Given the description of an element on the screen output the (x, y) to click on. 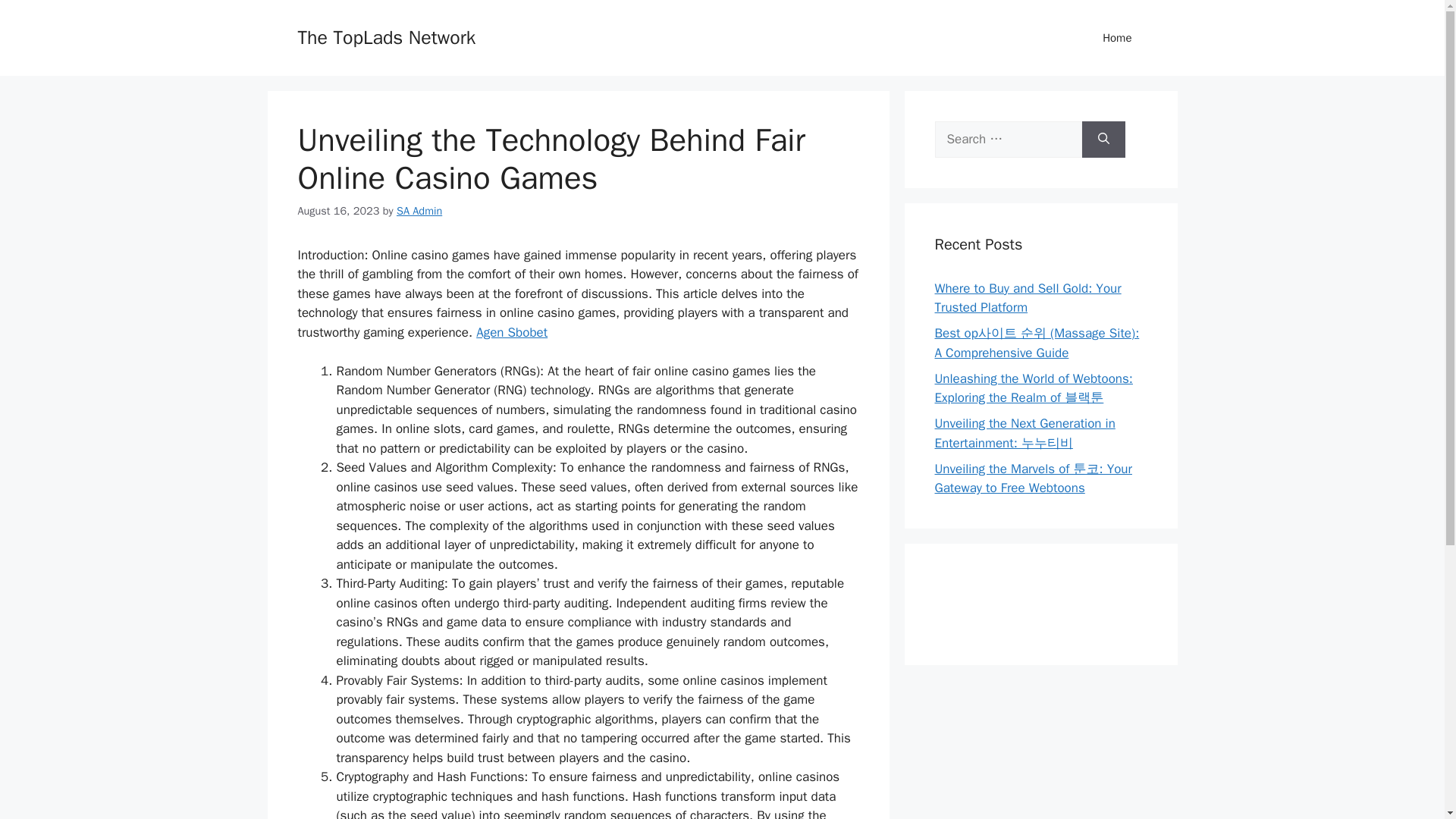
The TopLads Network (386, 37)
Home (1117, 37)
Search for: (1007, 139)
Agen Sbobet (511, 332)
Where to Buy and Sell Gold: Your Trusted Platform (1027, 298)
SA Admin (419, 210)
View all posts by SA Admin (419, 210)
